Given the description of an element on the screen output the (x, y) to click on. 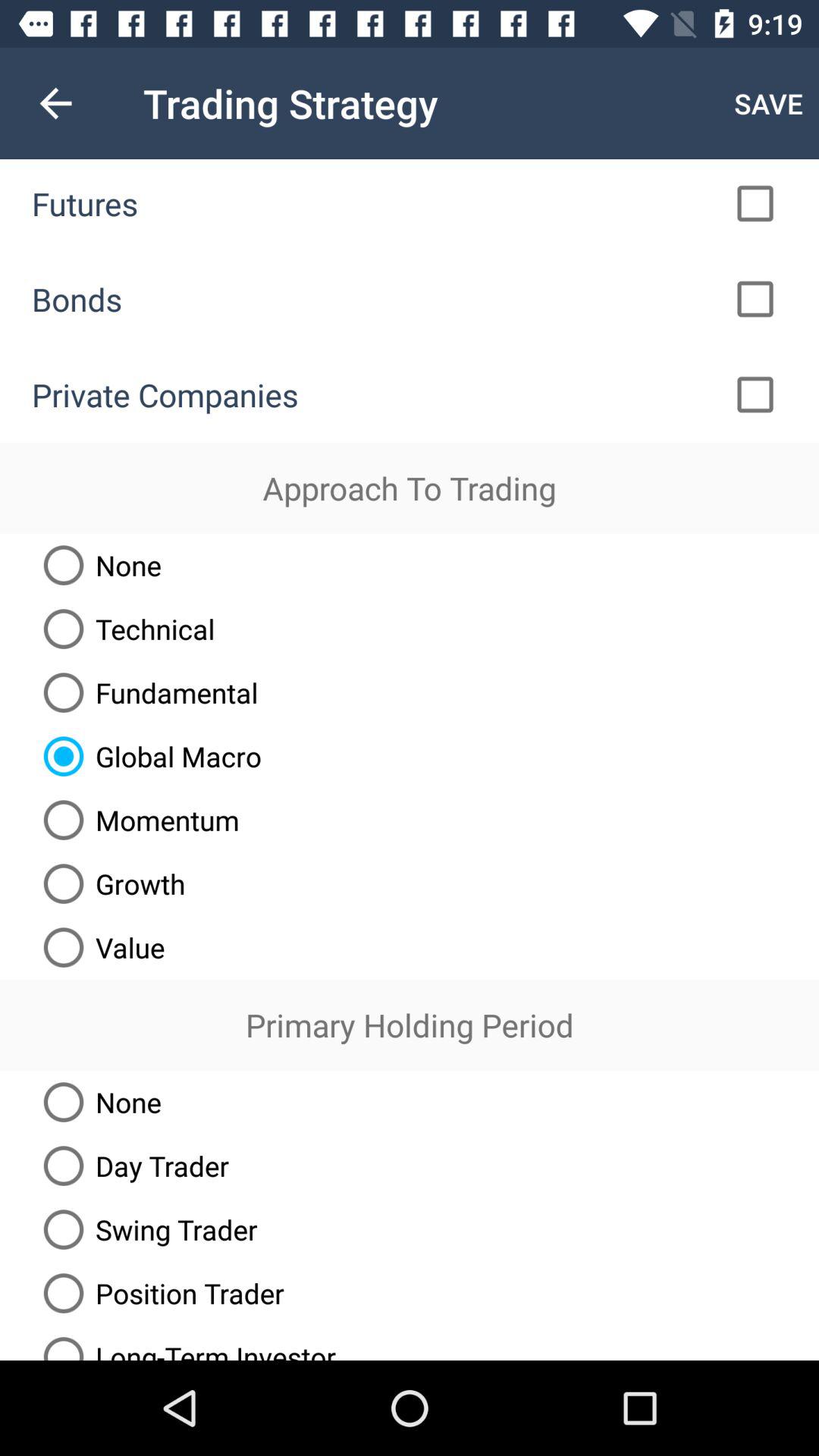
turn off radio button above global macro radio button (144, 692)
